Given the description of an element on the screen output the (x, y) to click on. 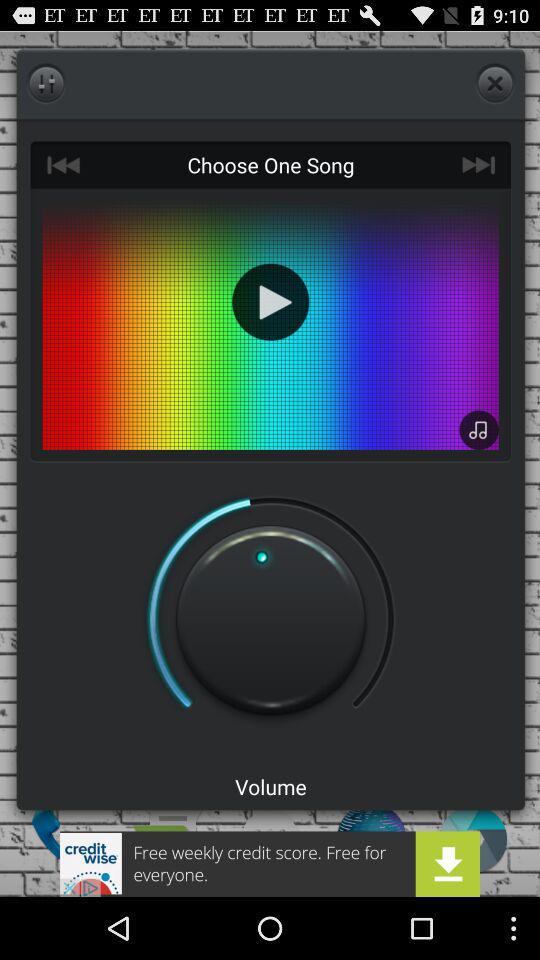
share the article (270, 864)
